Given the description of an element on the screen output the (x, y) to click on. 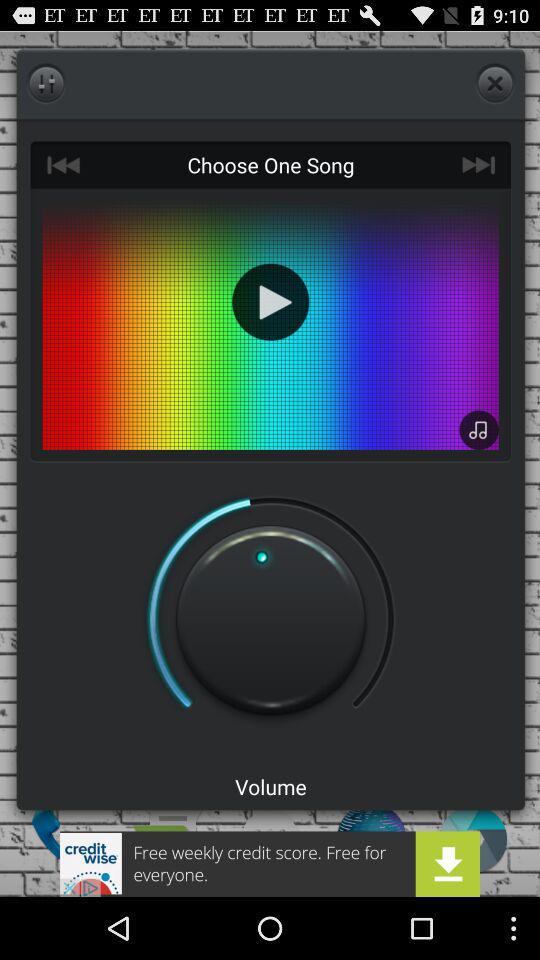
share the article (270, 864)
